Given the description of an element on the screen output the (x, y) to click on. 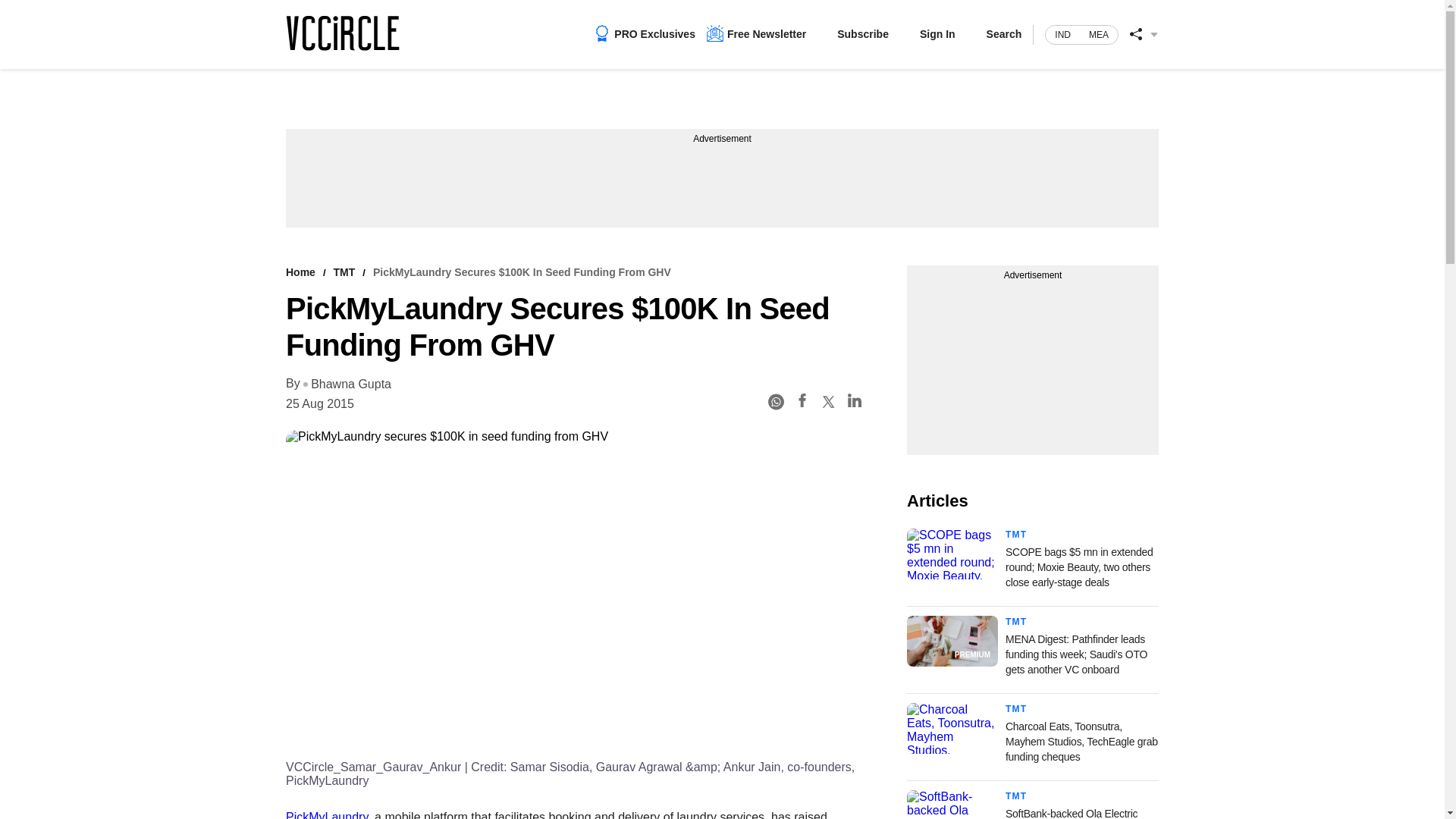
PRO Exclusives (644, 33)
Sign In (937, 33)
Bhawna Gupta (346, 384)
Search (1004, 33)
Free Newsletter (756, 33)
PickMyLaundry (326, 814)
IND (1062, 34)
TMT (1016, 621)
TMT (1016, 534)
MEA (1099, 34)
Home (300, 272)
Subscribe (862, 33)
Stay Home. Read Quality News (341, 32)
